Given the description of an element on the screen output the (x, y) to click on. 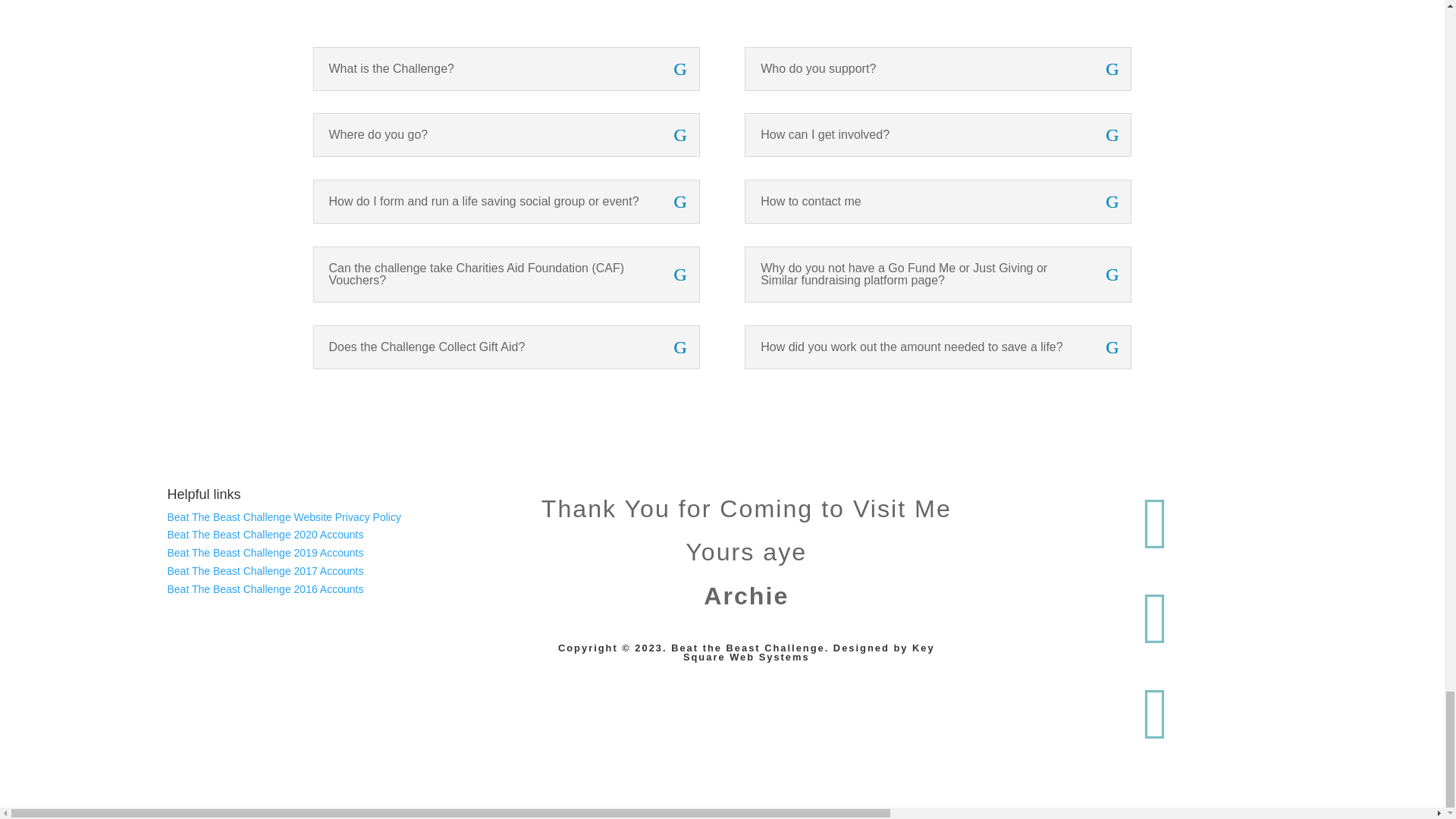
Visit Key Square Web Systems (769, 656)
